Given the description of an element on the screen output the (x, y) to click on. 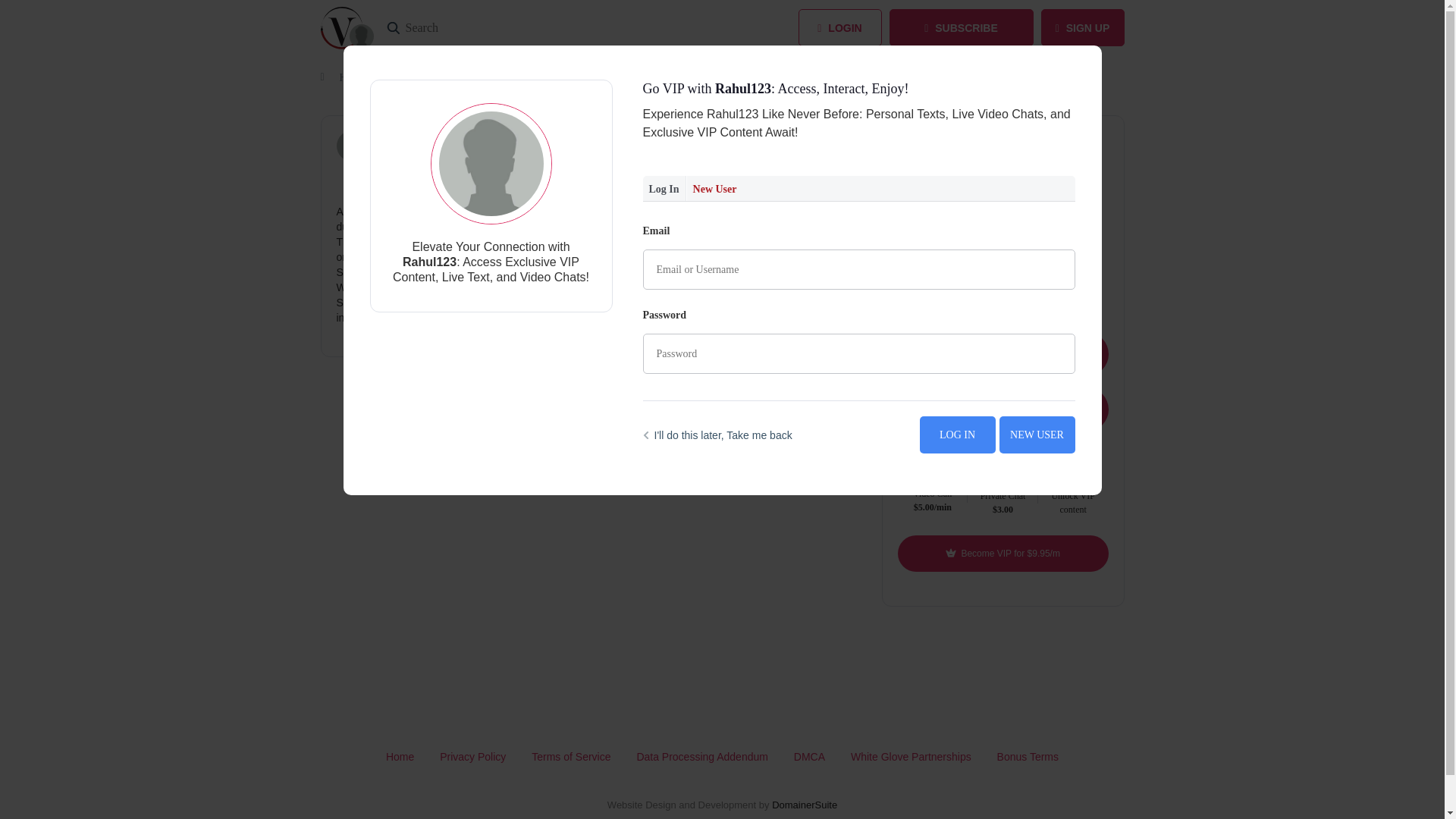
Data Processing Addendum (702, 756)
Privacy Policy (472, 756)
DomainerSuite (804, 804)
HOME (355, 77)
Sidharth Malhotra (1002, 234)
New User (714, 188)
NEW USER (1036, 434)
Terms of Service (570, 756)
White Glove Partnerships (910, 756)
DMCA (809, 756)
Book Video Chat (1003, 353)
LOGIN (838, 27)
I'll do this later, Take me back (717, 435)
SUBSCRIBE (960, 27)
